Given the description of an element on the screen output the (x, y) to click on. 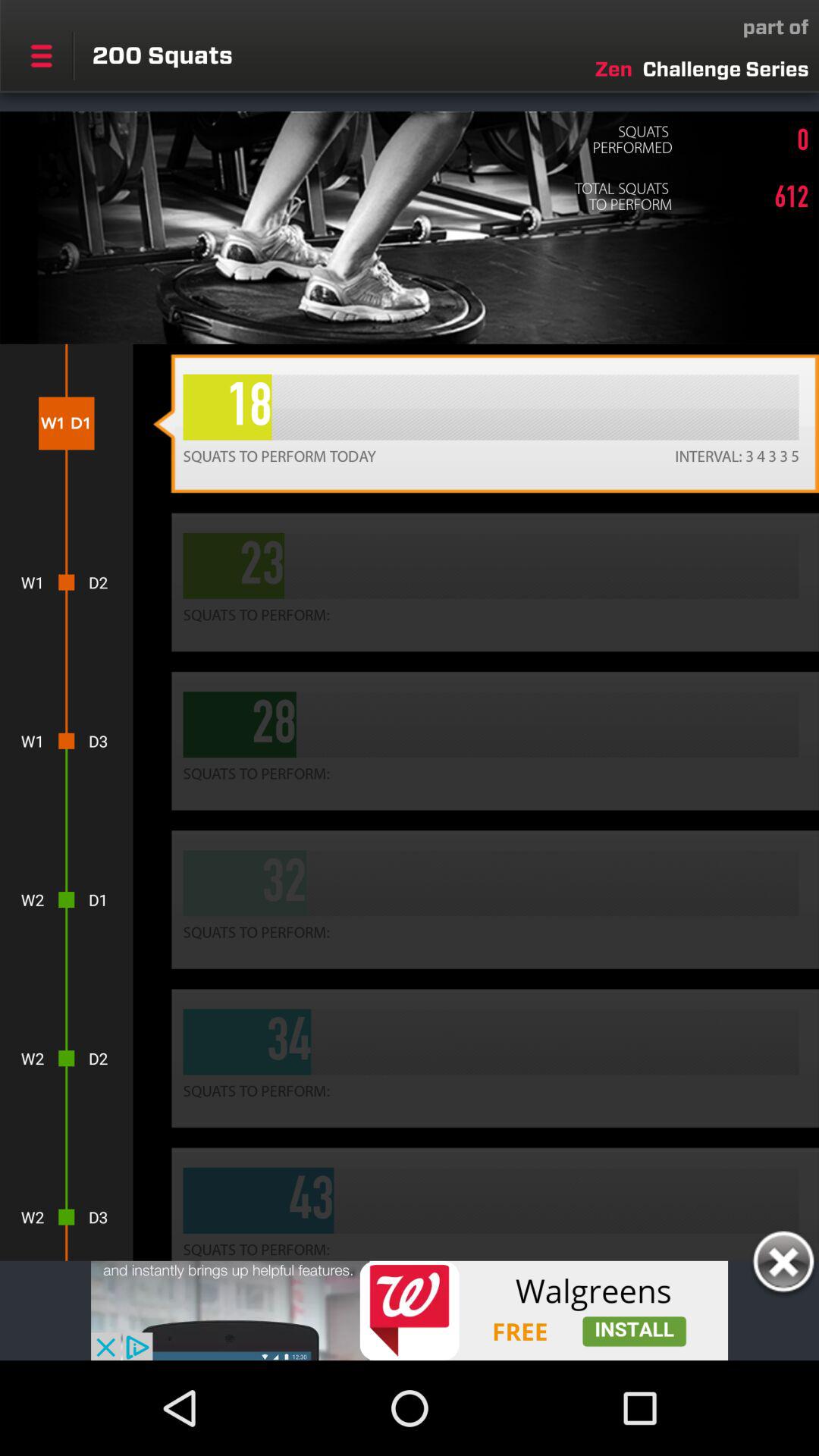
go to the menu (40, 55)
